Given the description of an element on the screen output the (x, y) to click on. 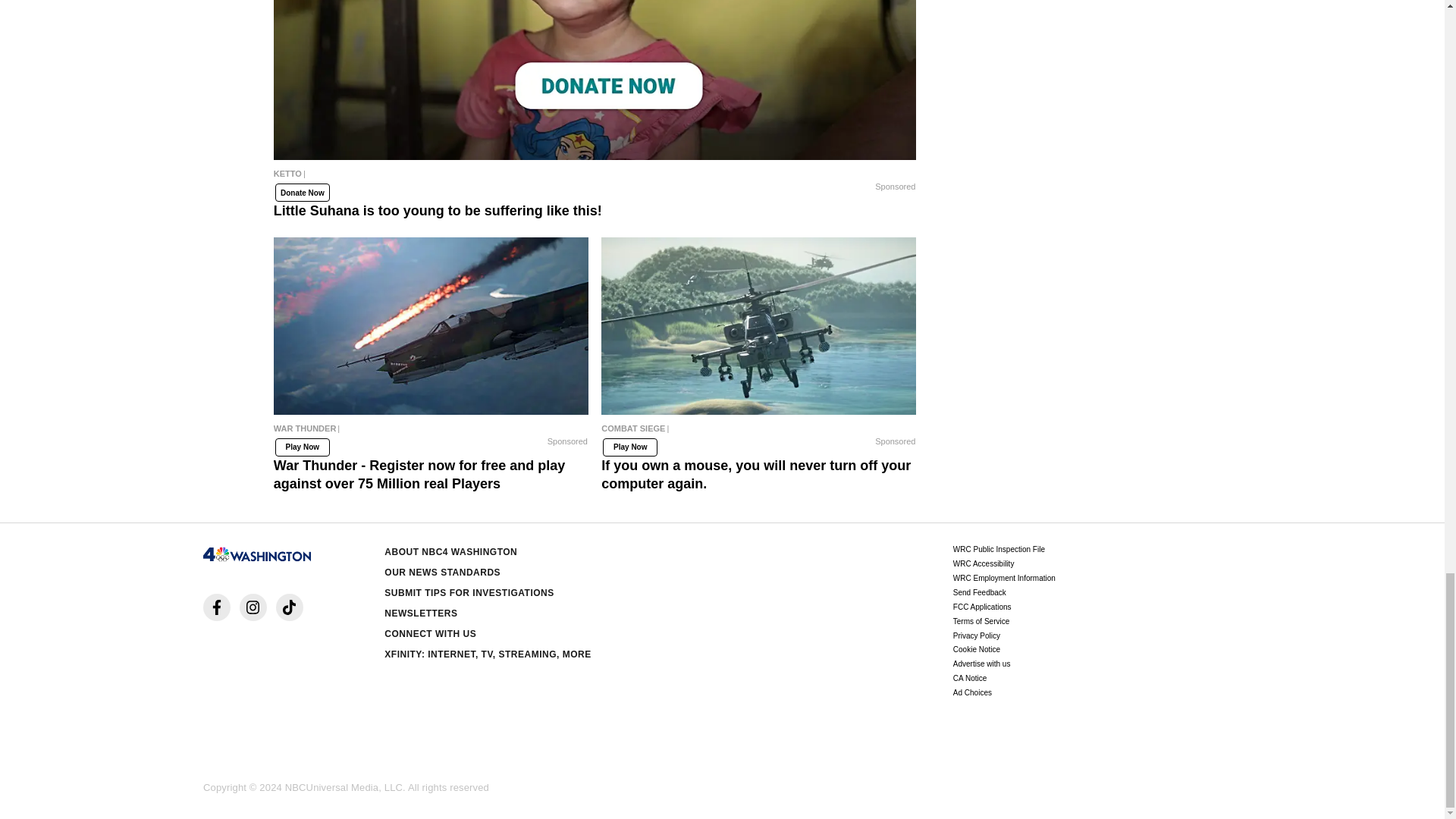
Little Suhana is too young to be suffering like this! (595, 176)
Little Suhana is too young to be suffering like this! (595, 79)
